Given the description of an element on the screen output the (x, y) to click on. 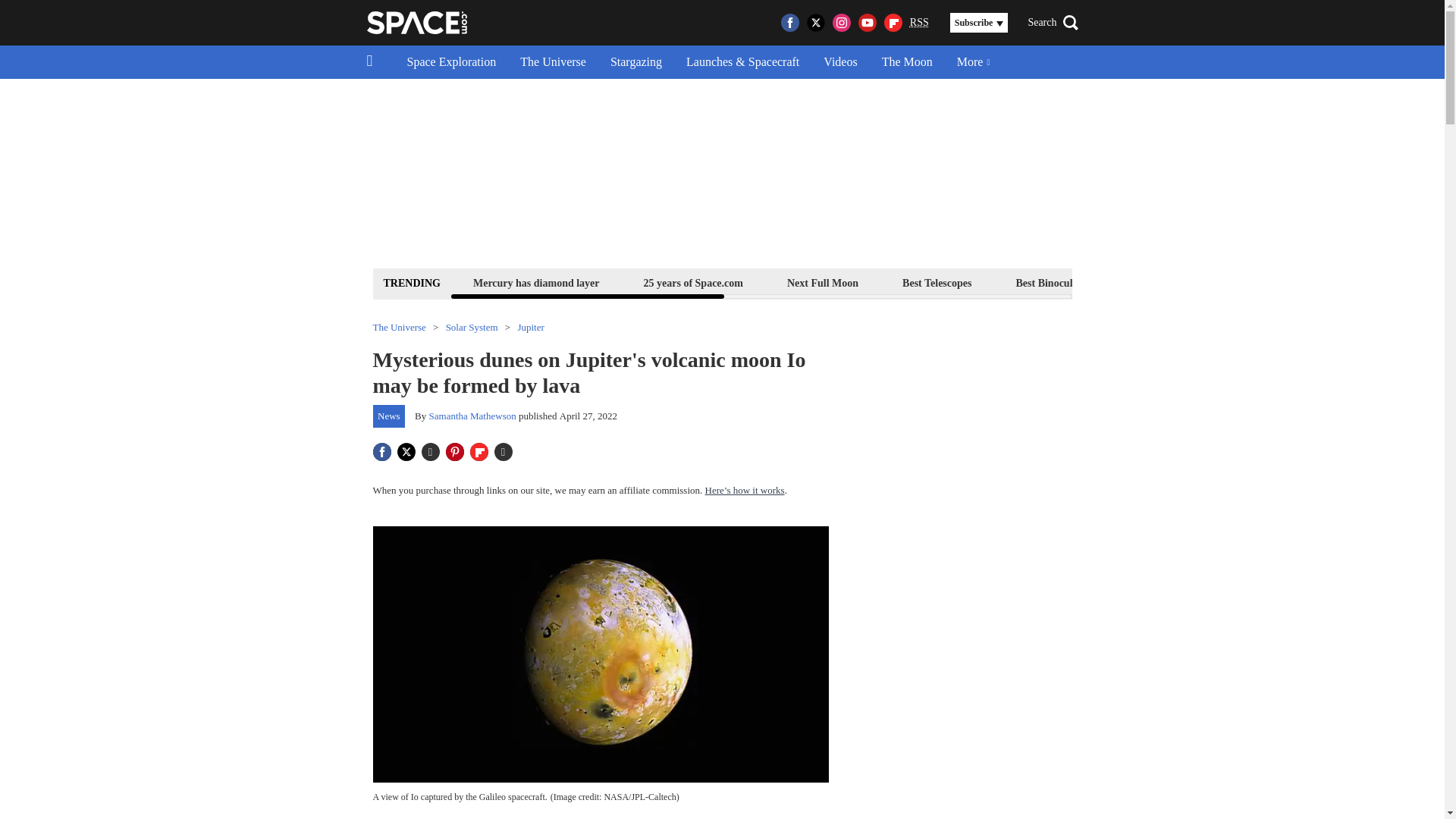
The Moon (906, 61)
Space Exploration (451, 61)
Next Full Moon (822, 282)
Stargazing (636, 61)
Mercury has diamond layer (536, 282)
Best Star Projectors (1176, 282)
Best Telescopes (936, 282)
Videos (839, 61)
Best Binoculars (1051, 282)
Space Calendar (1301, 282)
The Universe (553, 61)
25 years of Space.com (693, 282)
Really Simple Syndication (919, 21)
RSS (919, 22)
